Given the description of an element on the screen output the (x, y) to click on. 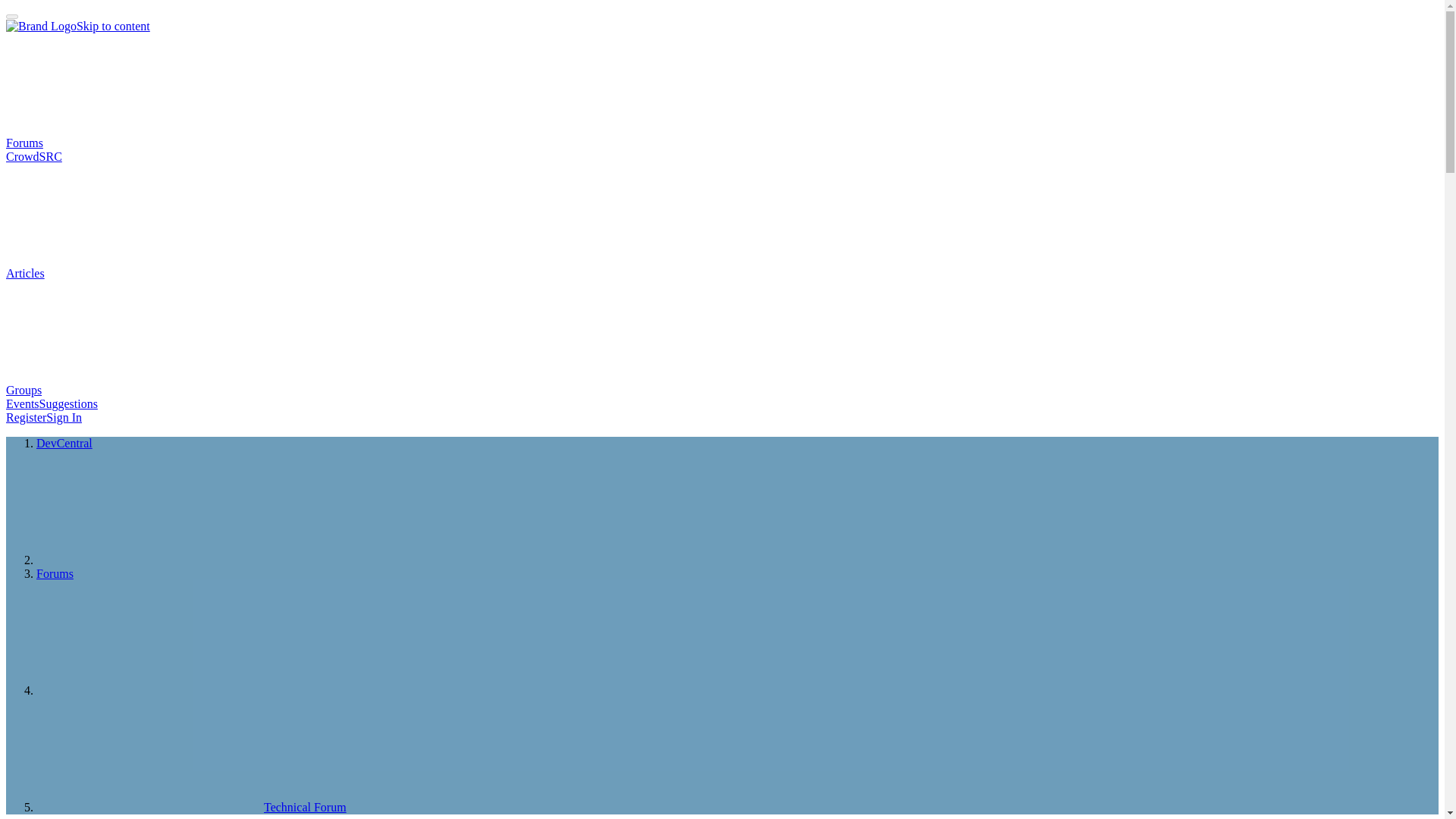
Skip to content (113, 25)
Sign In (63, 417)
CrowdSRC (33, 155)
Events (22, 403)
Suggestions (68, 403)
Forums (55, 573)
DevCentral (64, 442)
Articles (138, 273)
Technical Forum (191, 807)
Groups (137, 390)
Register (25, 417)
Forums (137, 142)
